Given the description of an element on the screen output the (x, y) to click on. 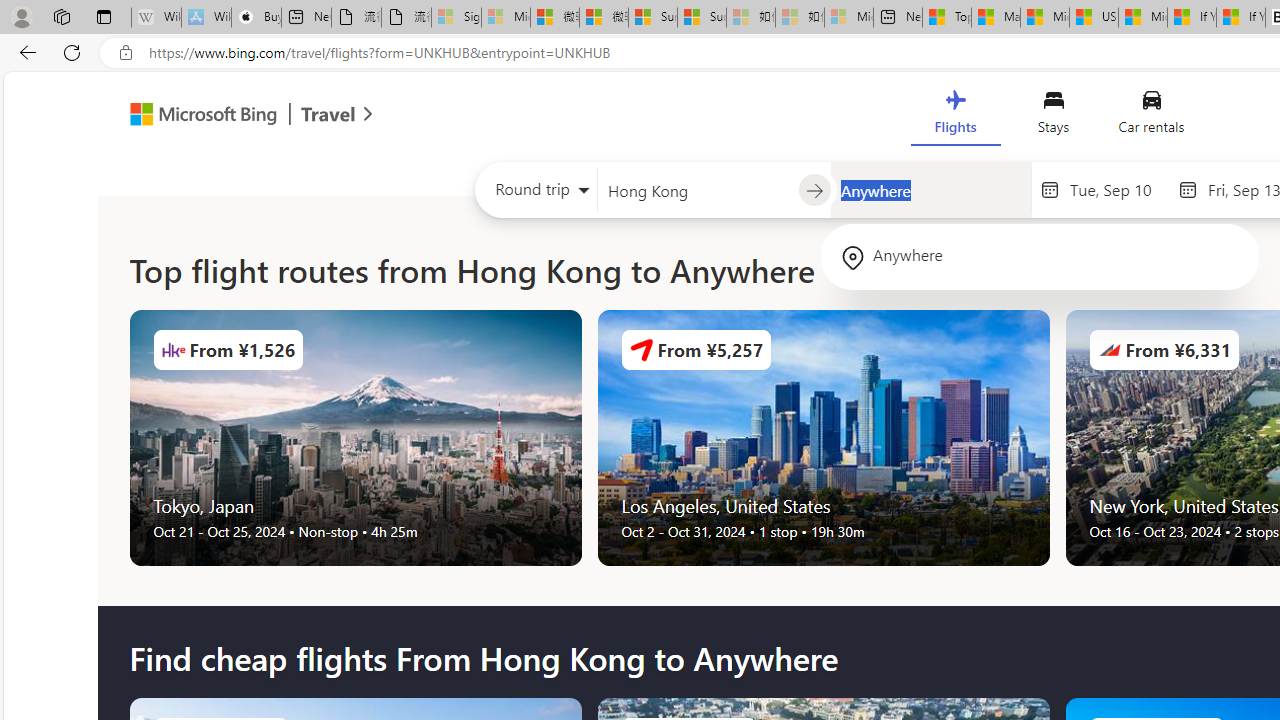
Class: autosuggest-container full-height no-y-padding (930, 190)
Start Date (1118, 189)
Leaving from? (697, 190)
Airlines Logo (1109, 349)
Class: msft-travel-logo (328, 114)
Anywhere (1039, 256)
